Given the description of an element on the screen output the (x, y) to click on. 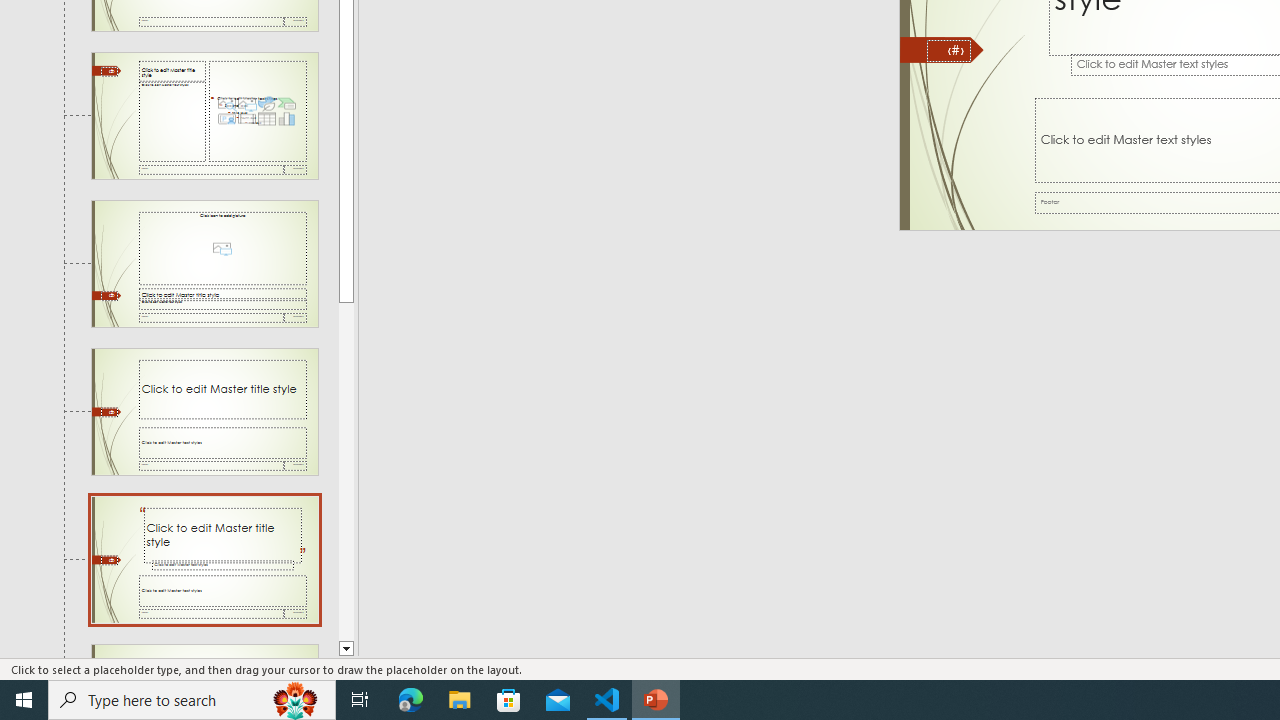
Slide Content with Caption Layout: used by no slides (204, 116)
Freeform 11 (941, 49)
Slide Name Card Layout: used by no slides (204, 651)
Slide Quote with Caption Layout: used by no slides (204, 559)
Slide Number (948, 50)
Slide Title and Caption Layout: used by no slides (204, 412)
Slide Picture with Caption Layout: used by no slides (204, 263)
